Given the description of an element on the screen output the (x, y) to click on. 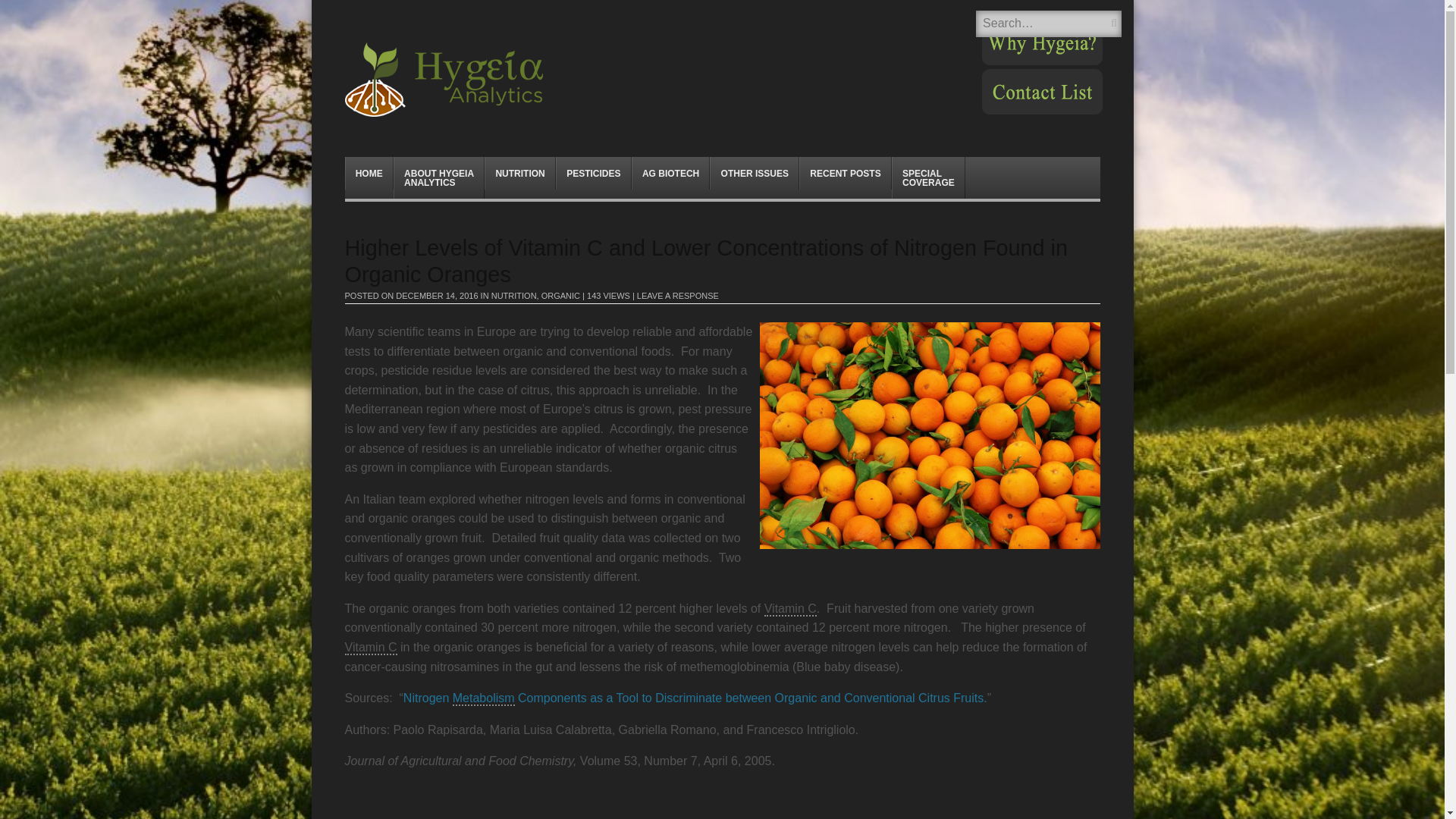
Wednesday, December 14th, 2016, 11:20 pm (436, 295)
Hygeia Analytics (438, 178)
NUTRITION (475, 79)
HOME (520, 173)
